Given the description of an element on the screen output the (x, y) to click on. 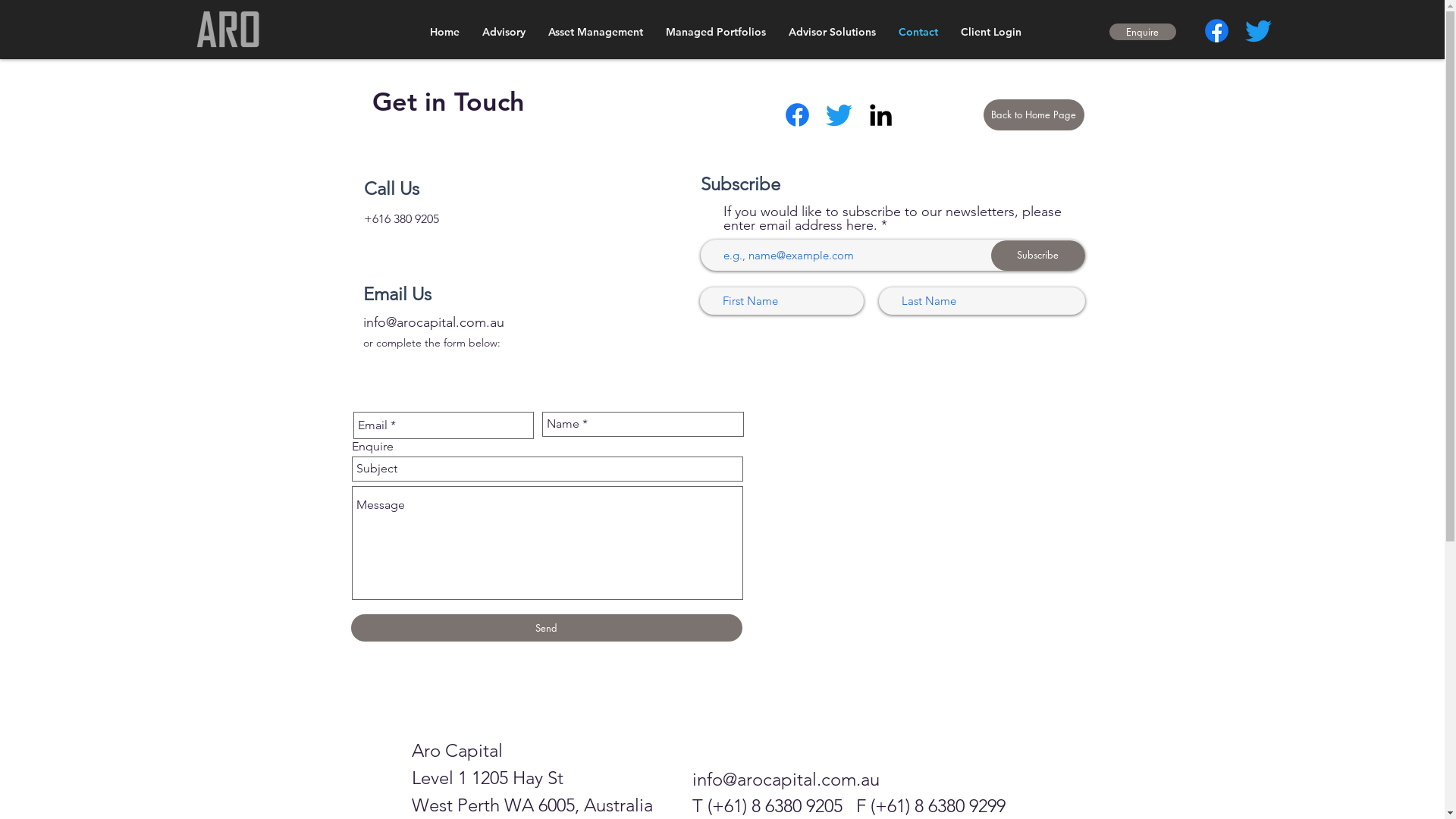
Google Maps Element type: hover (919, 530)
Asset Management Element type: text (595, 31)
Advisory Element type: text (503, 31)
F (+61) 8 6380 9299 Element type: text (929, 805)
Enquire Element type: text (1141, 31)
Client Login Element type: text (990, 31)
T (+61) 8 6380 9205    Element type: text (773, 805)
Send Element type: text (545, 627)
Advisor Solutions Element type: text (831, 31)
Subscribe Element type: text (1037, 254)
Back to Home Page Element type: text (1032, 114)
info@arocapital.com.au Element type: text (784, 779)
Managed Portfolios Element type: text (714, 31)
info@arocapital.com.au  Element type: text (434, 321)
Contact Element type: text (918, 31)
Home Element type: text (444, 31)
